Given the description of an element on the screen output the (x, y) to click on. 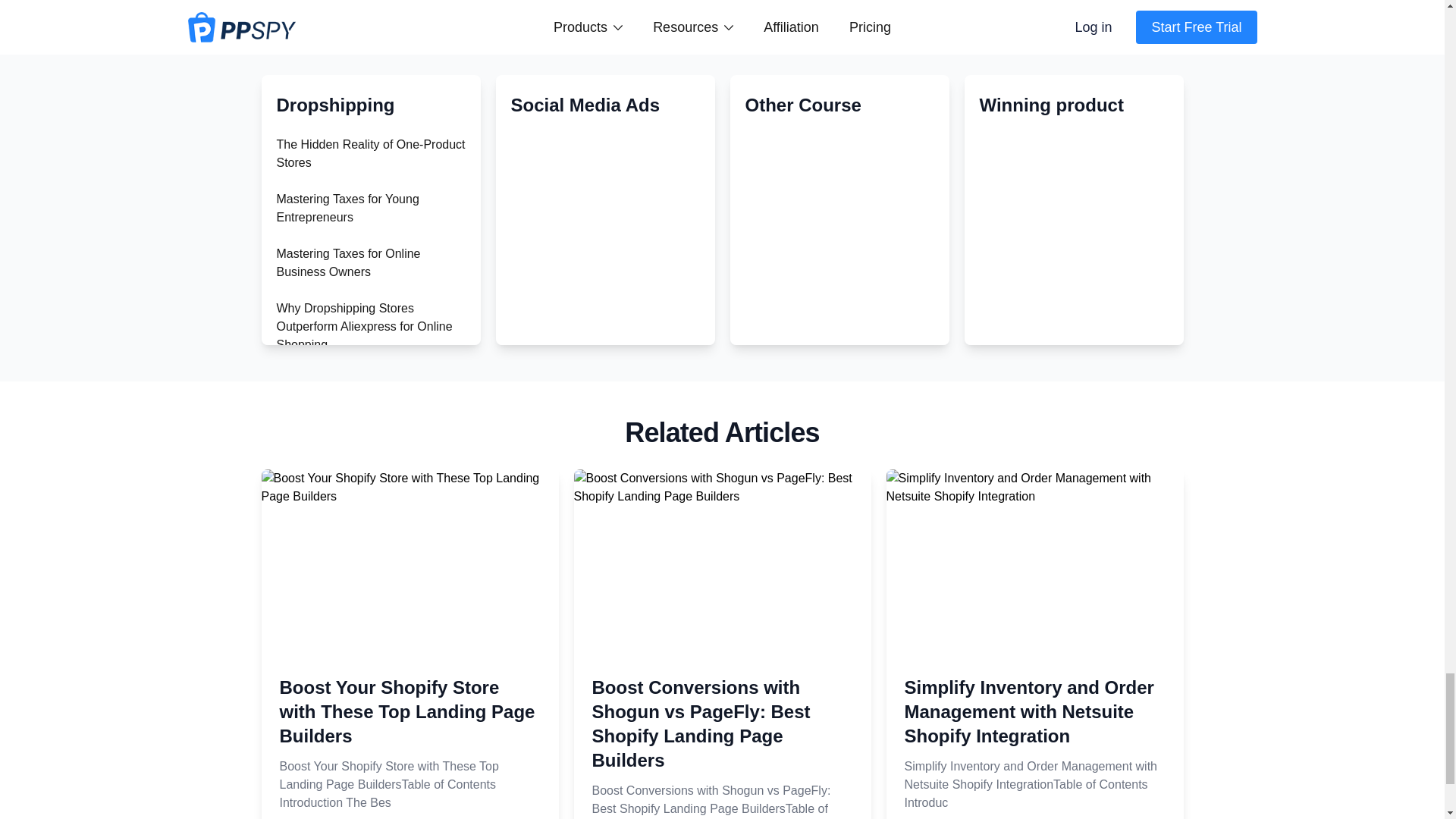
Mastering Taxes for Online Business Owners (348, 262)
Mastering Taxes for Young Entrepreneurs (347, 207)
Mastering Profit Calculations for Your Amazon Business (362, 462)
The Ultimate Guide to Dropshipping with Big Cartel (352, 644)
Master Drop Shipping with Bigcommons (347, 698)
The Hidden Reality of One-Product Stores (370, 153)
Boost Your Trading Success with Mechanical Rules (364, 590)
